Given the description of an element on the screen output the (x, y) to click on. 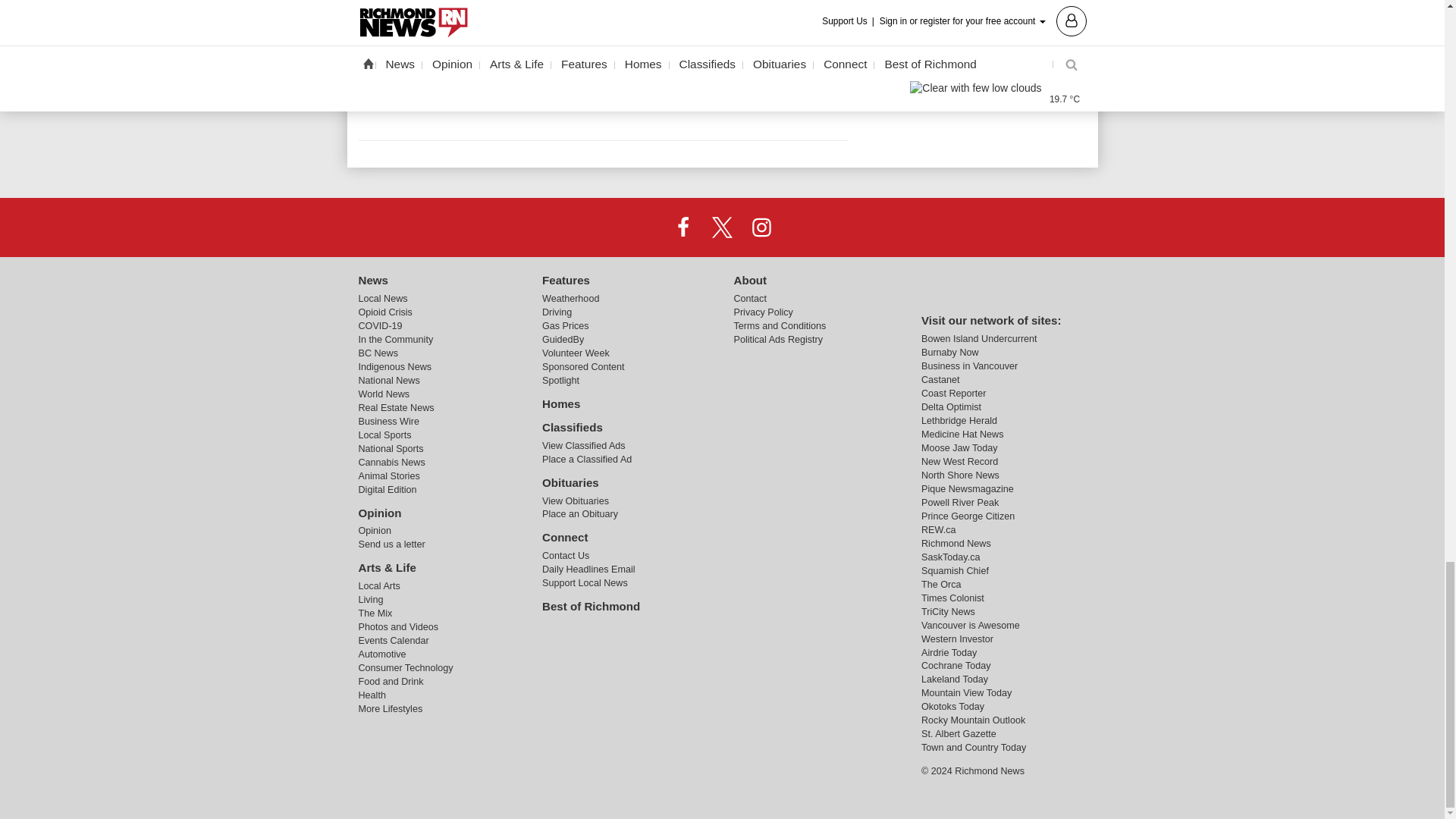
Facebook (683, 226)
Instagram (760, 226)
X (721, 226)
